Given the description of an element on the screen output the (x, y) to click on. 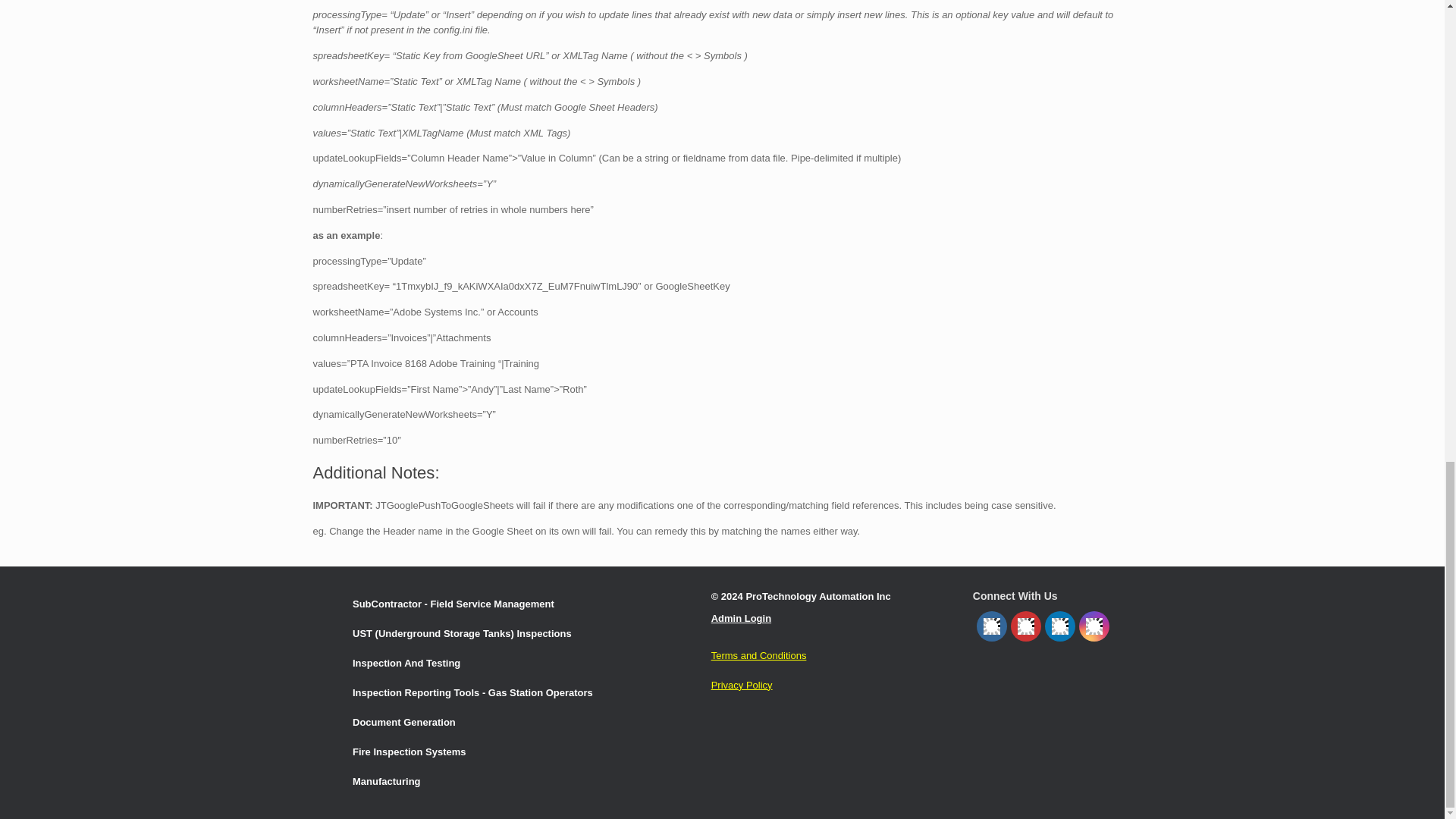
YouTube (1025, 626)
LinkedIn (1059, 626)
Facebook (992, 626)
